Given the description of an element on the screen output the (x, y) to click on. 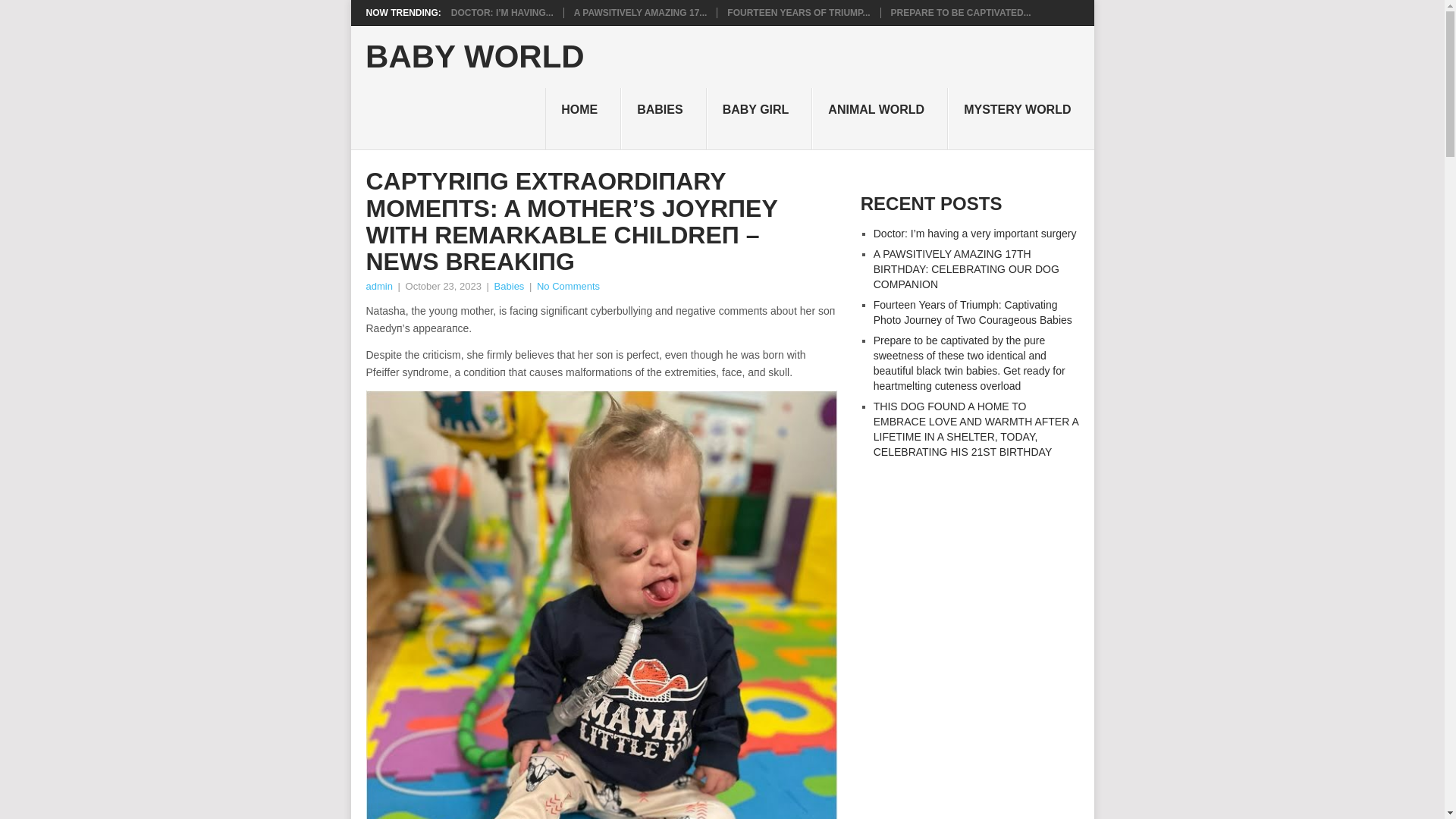
Posts by admin (378, 285)
Babies (509, 285)
ANIMAL WORLD (879, 118)
MYSTERY WORLD (1020, 118)
PREPARE TO BE CAPTIVATED... (960, 12)
FOURTEEN YEARS OF TRIUMP... (797, 12)
BABY GIRL (759, 118)
A PAWSITIVELY AMAZING 17... (640, 12)
HOME (582, 118)
BABY WORLD (475, 56)
BABIES (663, 118)
